Given the description of an element on the screen output the (x, y) to click on. 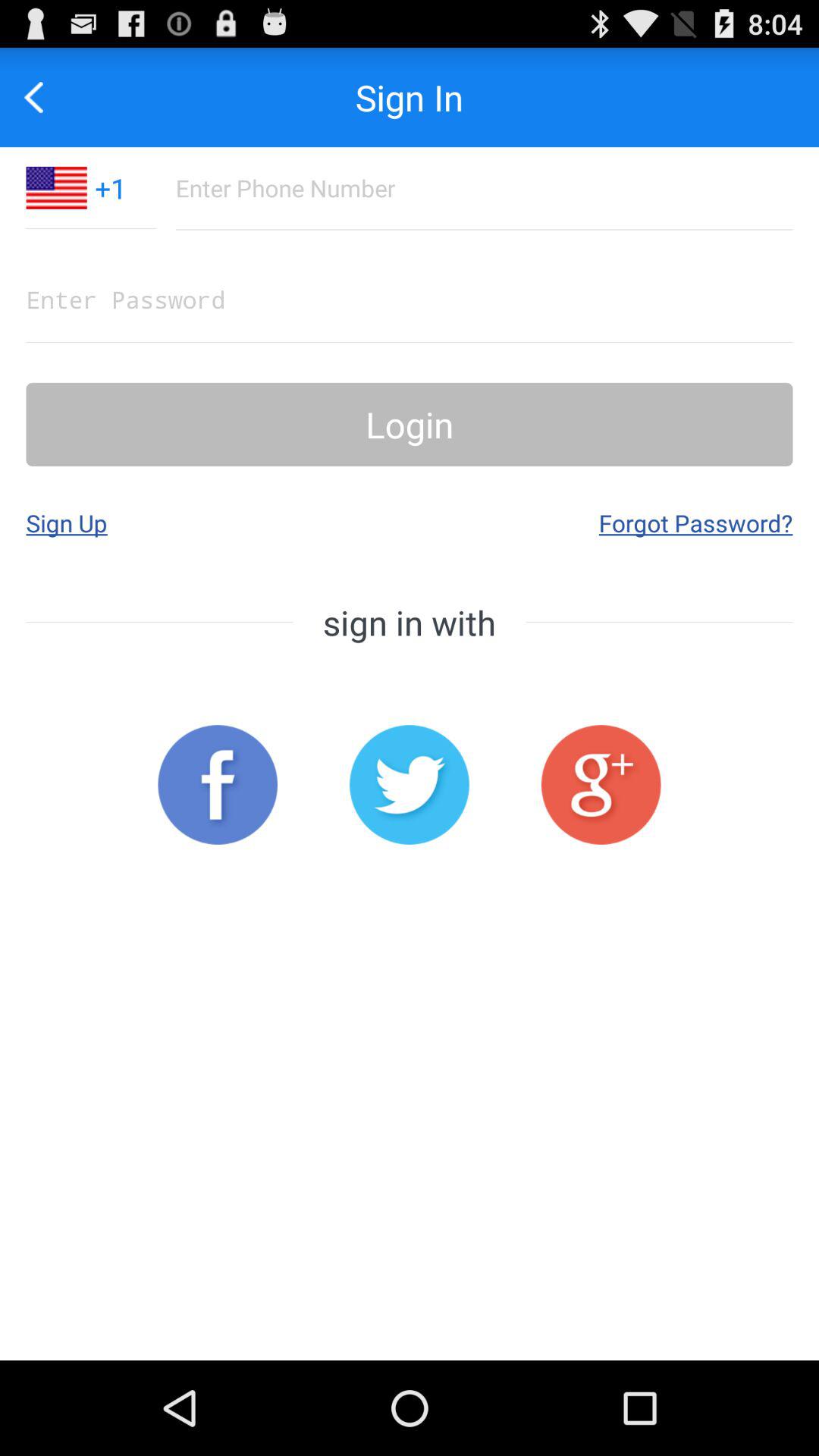
sign in with google plus (600, 784)
